Given the description of an element on the screen output the (x, y) to click on. 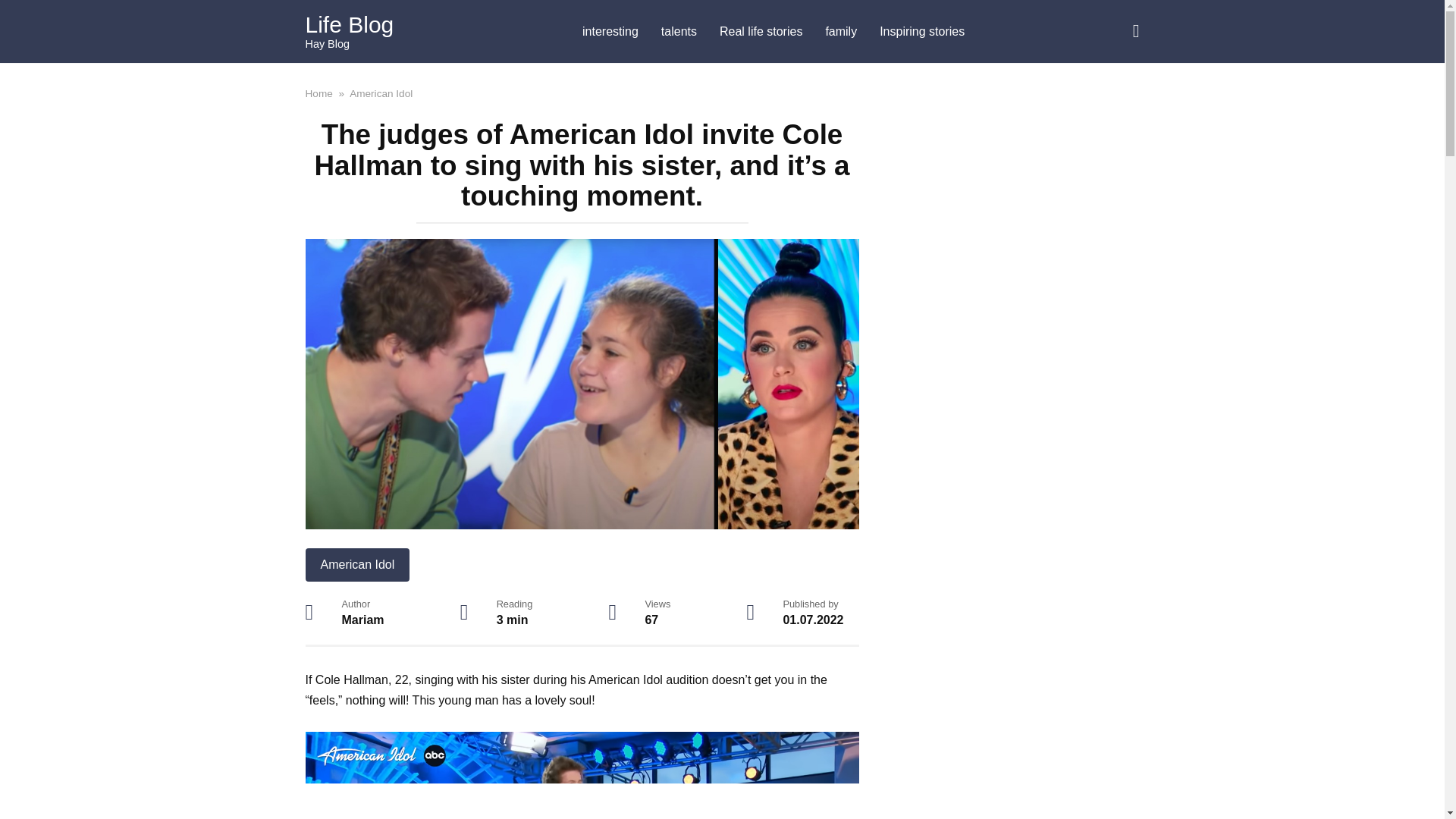
American Idol (356, 564)
Life Blog (348, 24)
Real life stories (760, 31)
talents (678, 31)
American Idol (380, 93)
interesting (609, 31)
Home (317, 93)
family (840, 31)
Inspiring stories (921, 31)
